Given the description of an element on the screen output the (x, y) to click on. 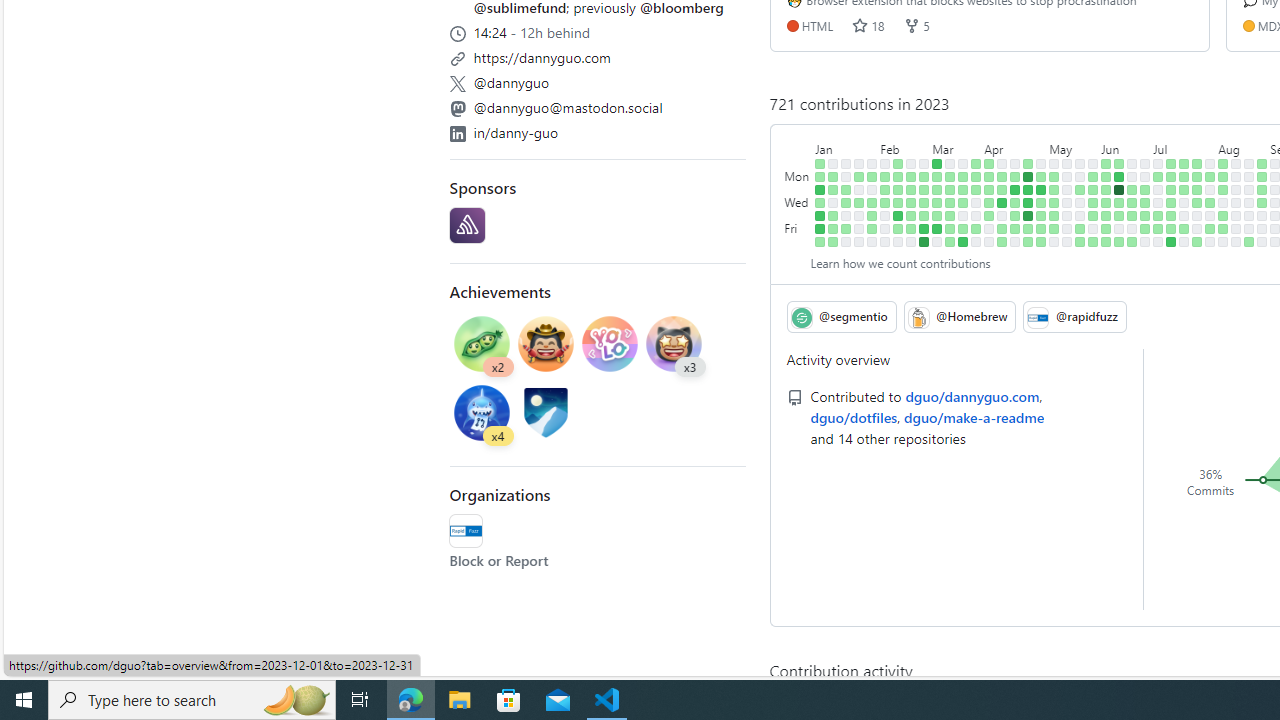
No contributions on May 17th. (1067, 202)
No contributions on March 23rd. (962, 215)
Achievement: YOLO (609, 345)
1 contribution on March 7th. (937, 189)
2 contributions on March 16th. (950, 215)
LinkedIn (457, 133)
4 contributions on February 6th. (885, 176)
3 contributions on March 28th. (976, 189)
No contributions on February 4th. (872, 241)
7 contributions on February 7th. (885, 189)
2 contributions on May 29th. (1093, 176)
Achievements (499, 290)
1 contribution on January 2nd. (820, 176)
@getsentry (467, 225)
Tuesday (797, 189)
